Given the description of an element on the screen output the (x, y) to click on. 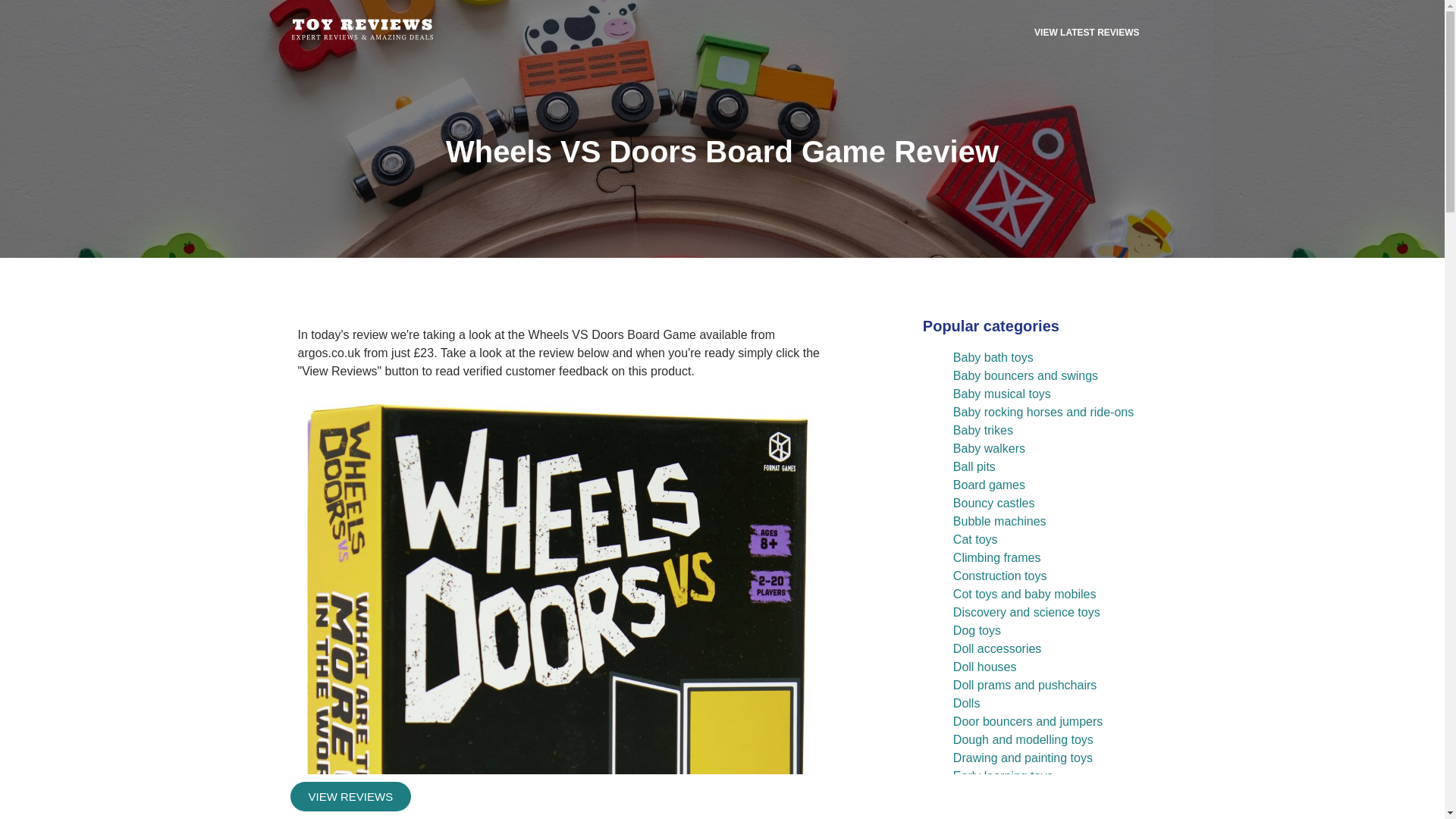
Construction toys (999, 575)
Baby bath toys (993, 357)
Ball pits (974, 466)
Discovery and science toys (1026, 612)
Baby trikes (983, 430)
Board games (989, 484)
Baby walkers (989, 448)
VIEW LATEST REVIEWS (1086, 32)
Bouncy castles (994, 502)
Climbing frames (997, 557)
Baby bouncers and swings (1025, 375)
Baby rocking horses and ride-ons (1043, 411)
Cat toys (975, 539)
Bubble machines (999, 521)
Dog toys (977, 630)
